Given the description of an element on the screen output the (x, y) to click on. 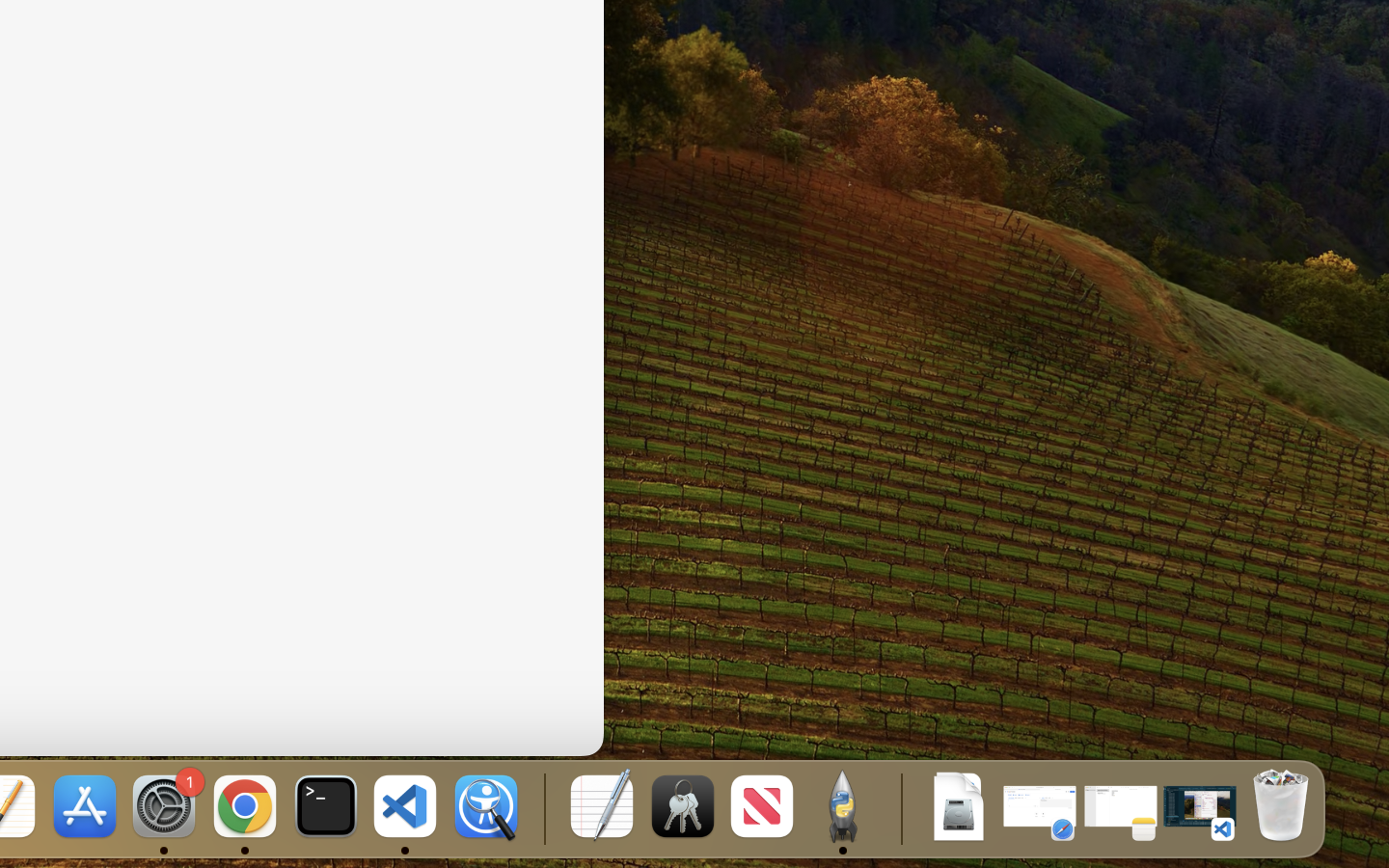
0.4285714328289032 Element type: AXDockItem (541, 807)
